Given the description of an element on the screen output the (x, y) to click on. 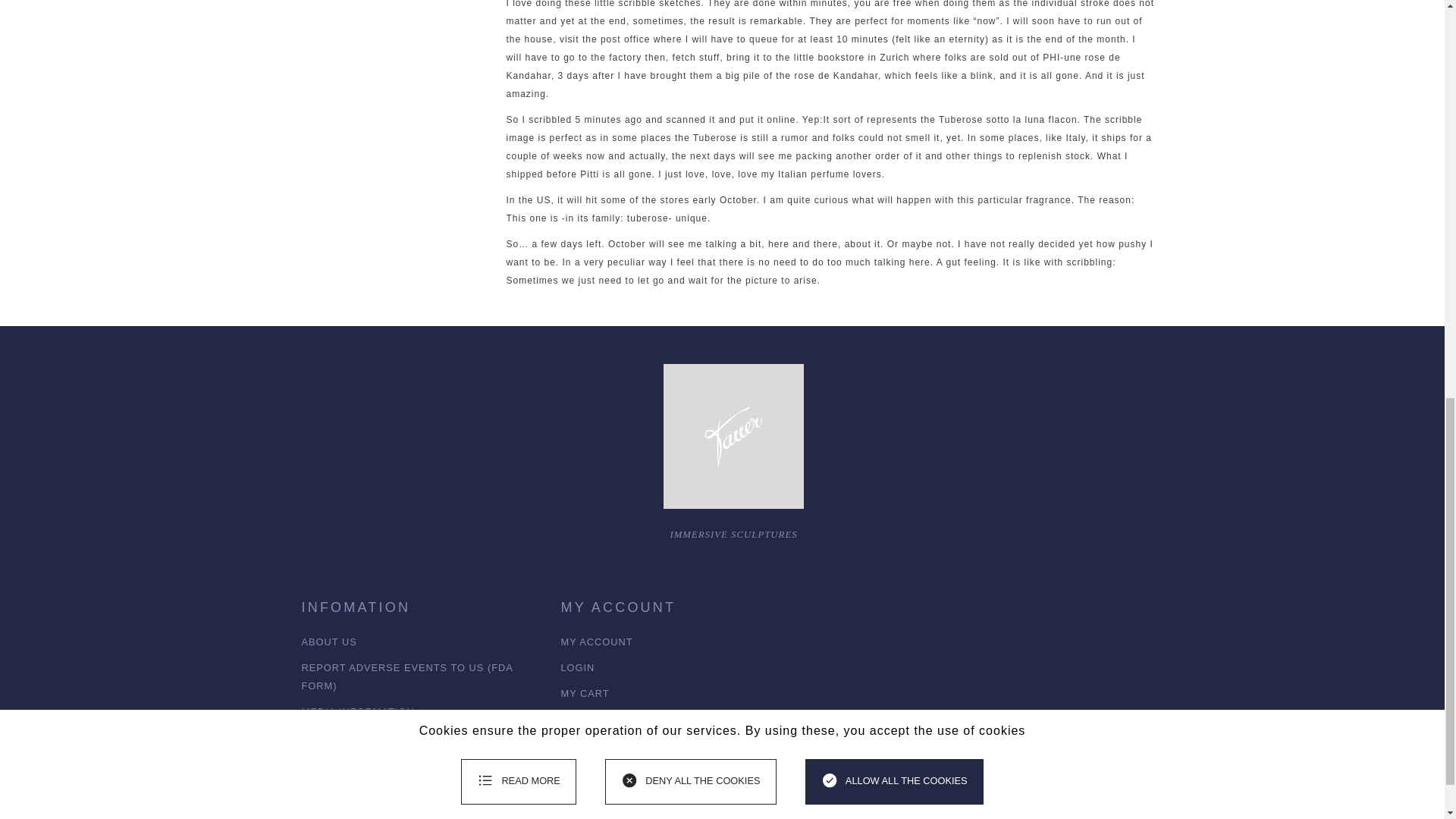
ABOUT US (328, 641)
MEDIA INFORMATION (357, 711)
